Given the description of an element on the screen output the (x, y) to click on. 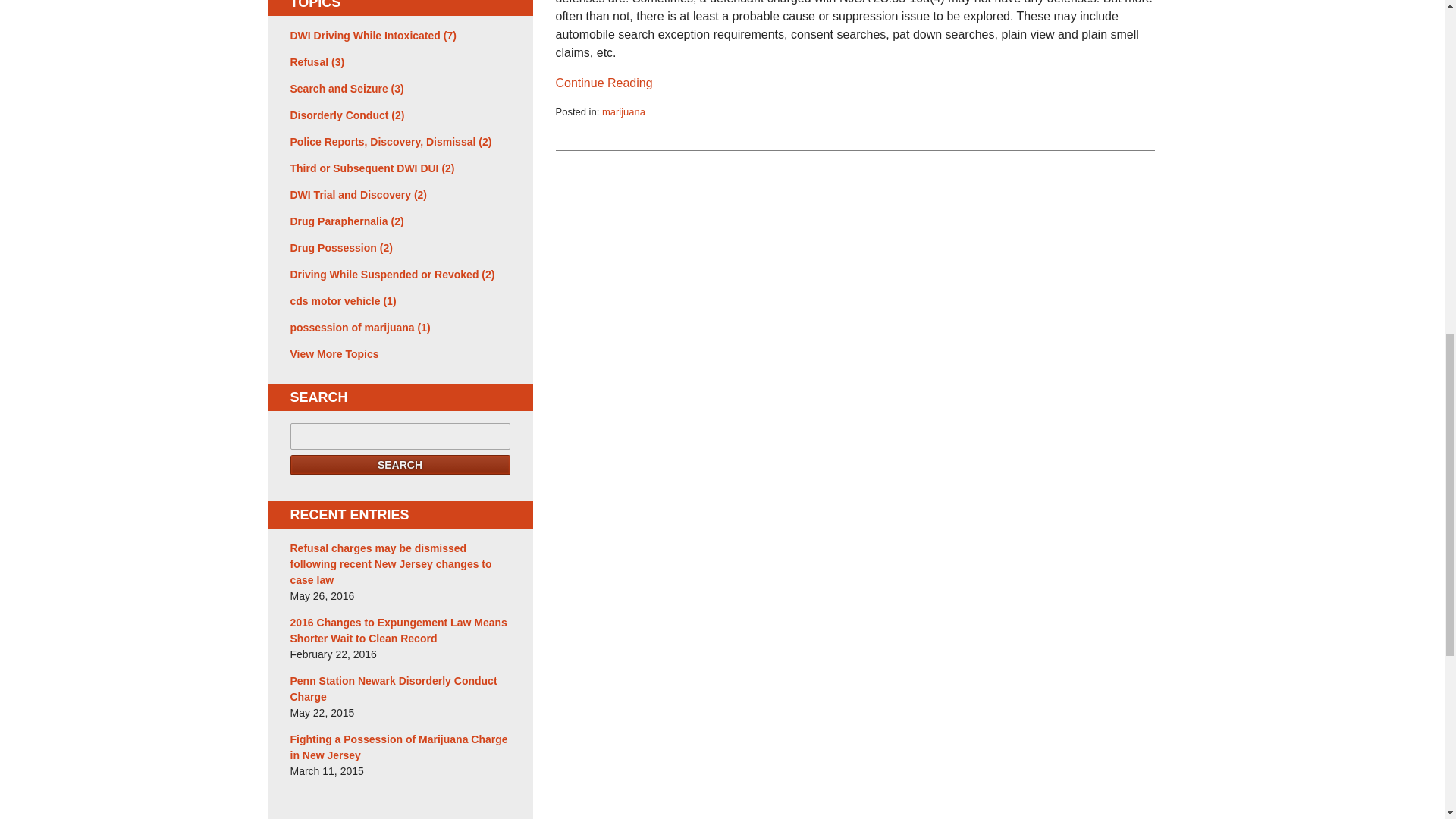
View More Topics (399, 354)
marijuana (623, 111)
View all posts in marijuana (623, 111)
Continue Reading (603, 82)
SEARCH (399, 465)
